Given the description of an element on the screen output the (x, y) to click on. 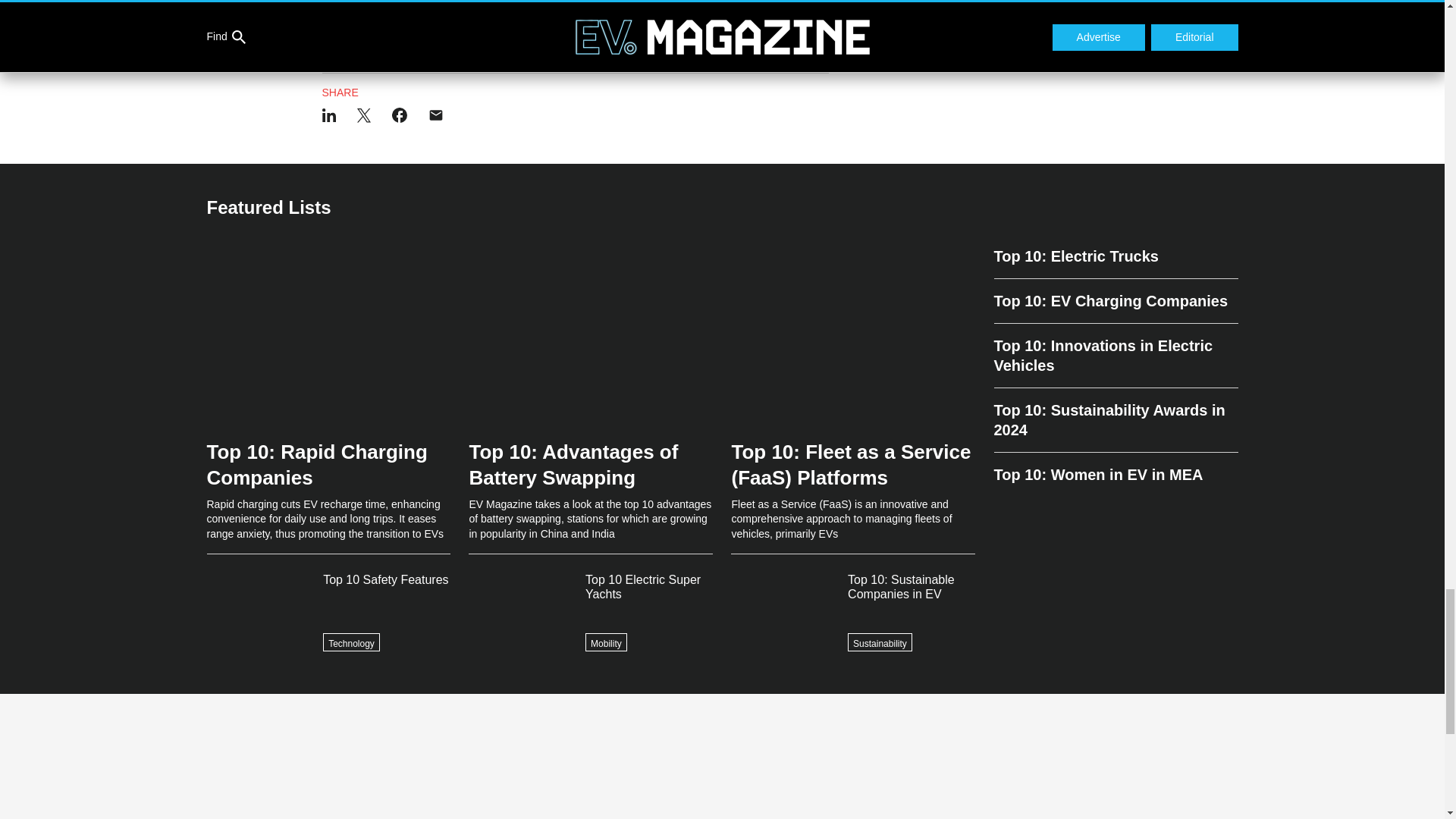
Top 10: Sustainability Awards in 2024 (1114, 420)
ELECTRICVEHICLES (398, 33)
Top 10: EV Charging Companies (1114, 301)
FLEETANDCOMMERCIAL (513, 33)
Top 10: Women in EV in MEA (1114, 468)
SUPPLYCHAIN (614, 33)
Top 10: Electric Trucks (1114, 262)
EV (331, 33)
Top 10: Innovations in Electric Vehicles (1114, 355)
